Given the description of an element on the screen output the (x, y) to click on. 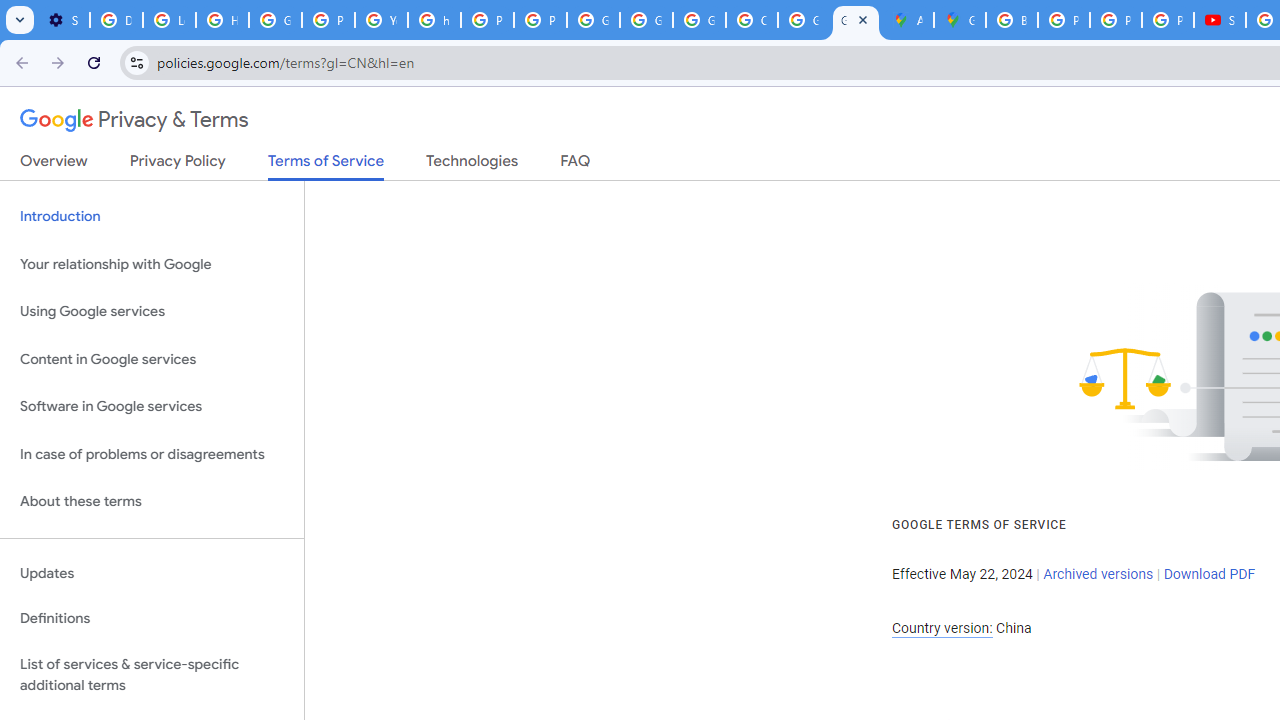
Country version: (942, 628)
Using Google services (152, 312)
Settings - Customize profile (63, 20)
Privacy Help Center - Policies Help (328, 20)
Software in Google services (152, 407)
https://scholar.google.com/ (434, 20)
Download PDF (1209, 574)
